Given the description of an element on the screen output the (x, y) to click on. 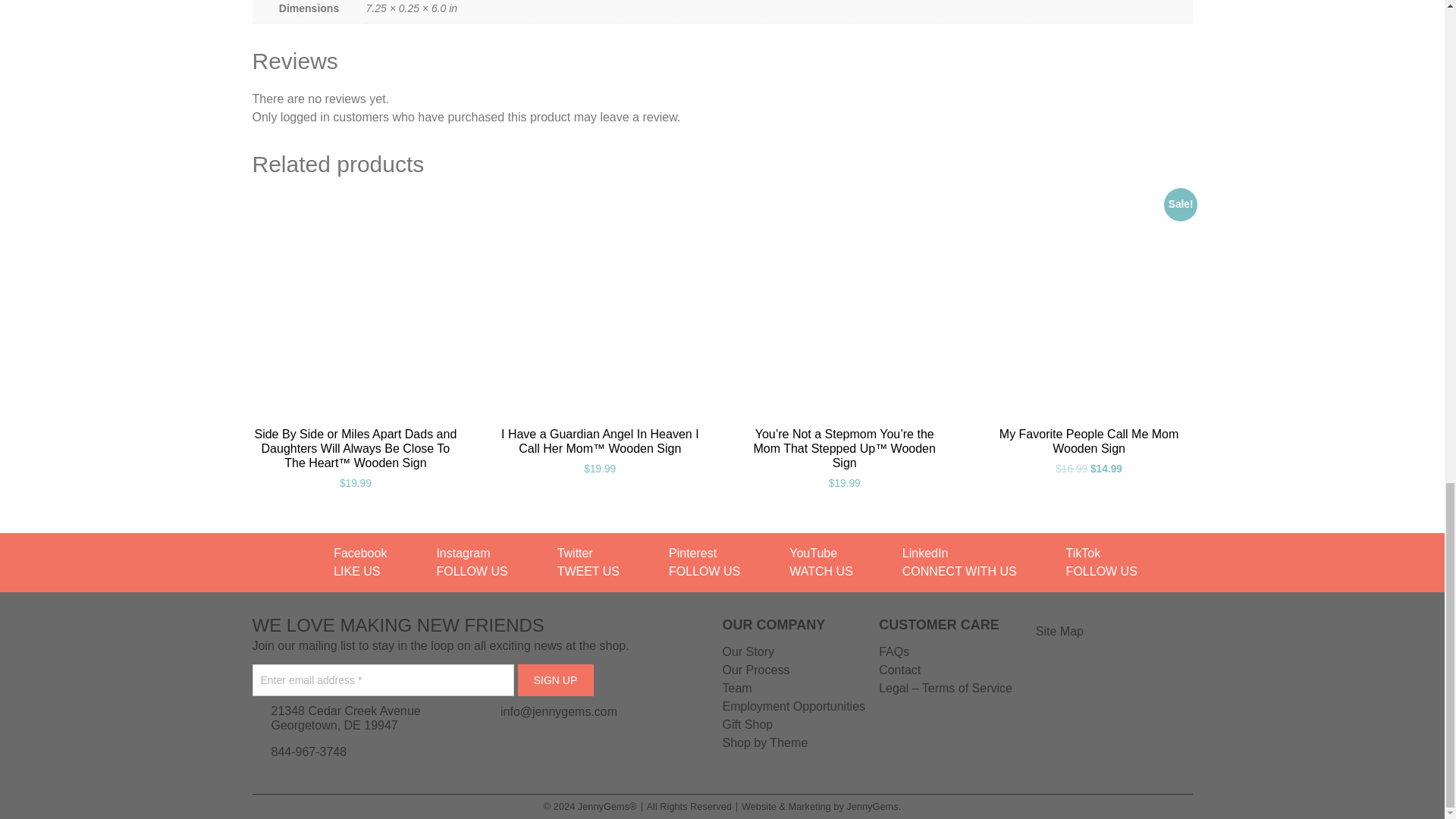
SIGN UP (554, 680)
